Given the description of an element on the screen output the (x, y) to click on. 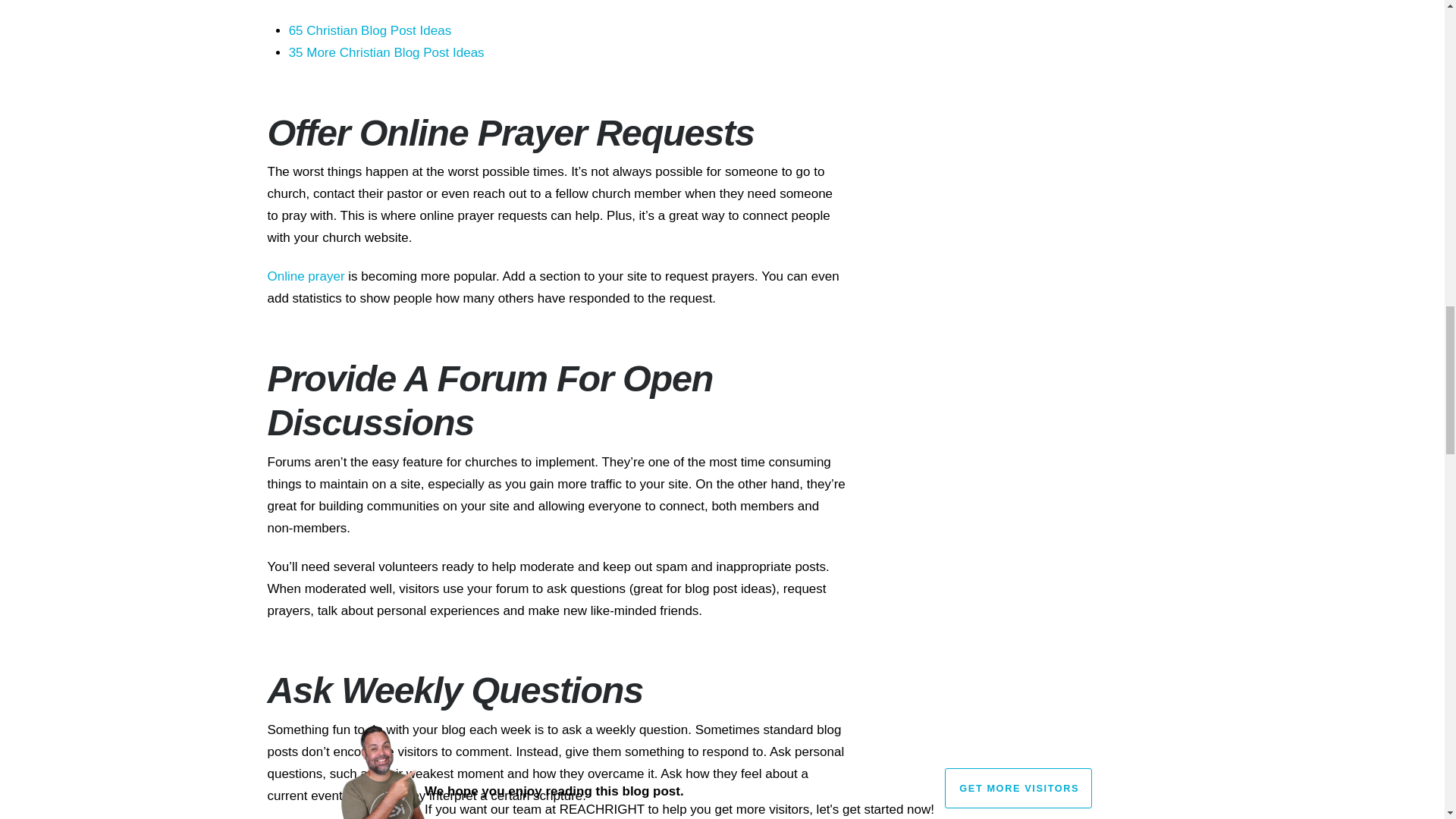
Online prayer (304, 276)
35 More Christian Blog Post Ideas (386, 52)
65 Christian Blog Post Ideas (369, 30)
